Given the description of an element on the screen output the (x, y) to click on. 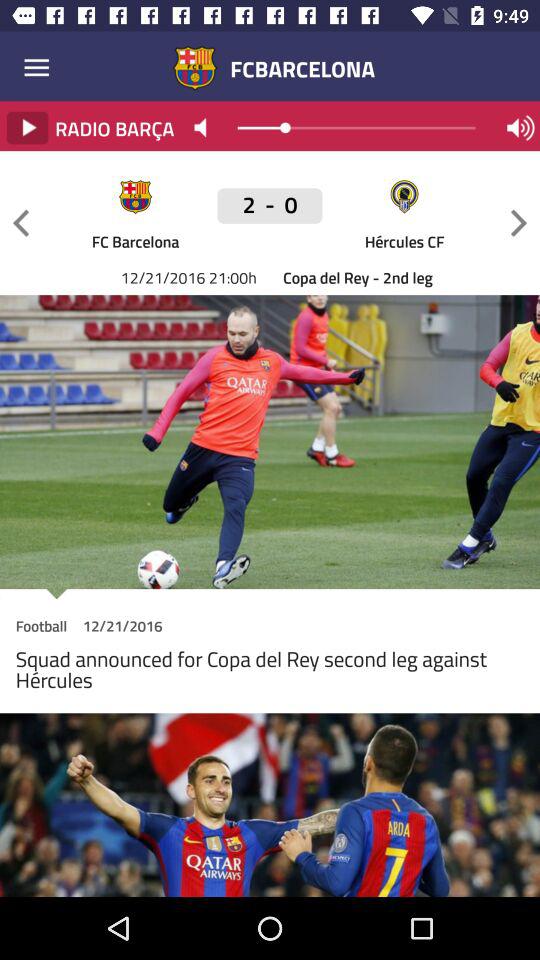
go back (21, 222)
